Given the description of an element on the screen output the (x, y) to click on. 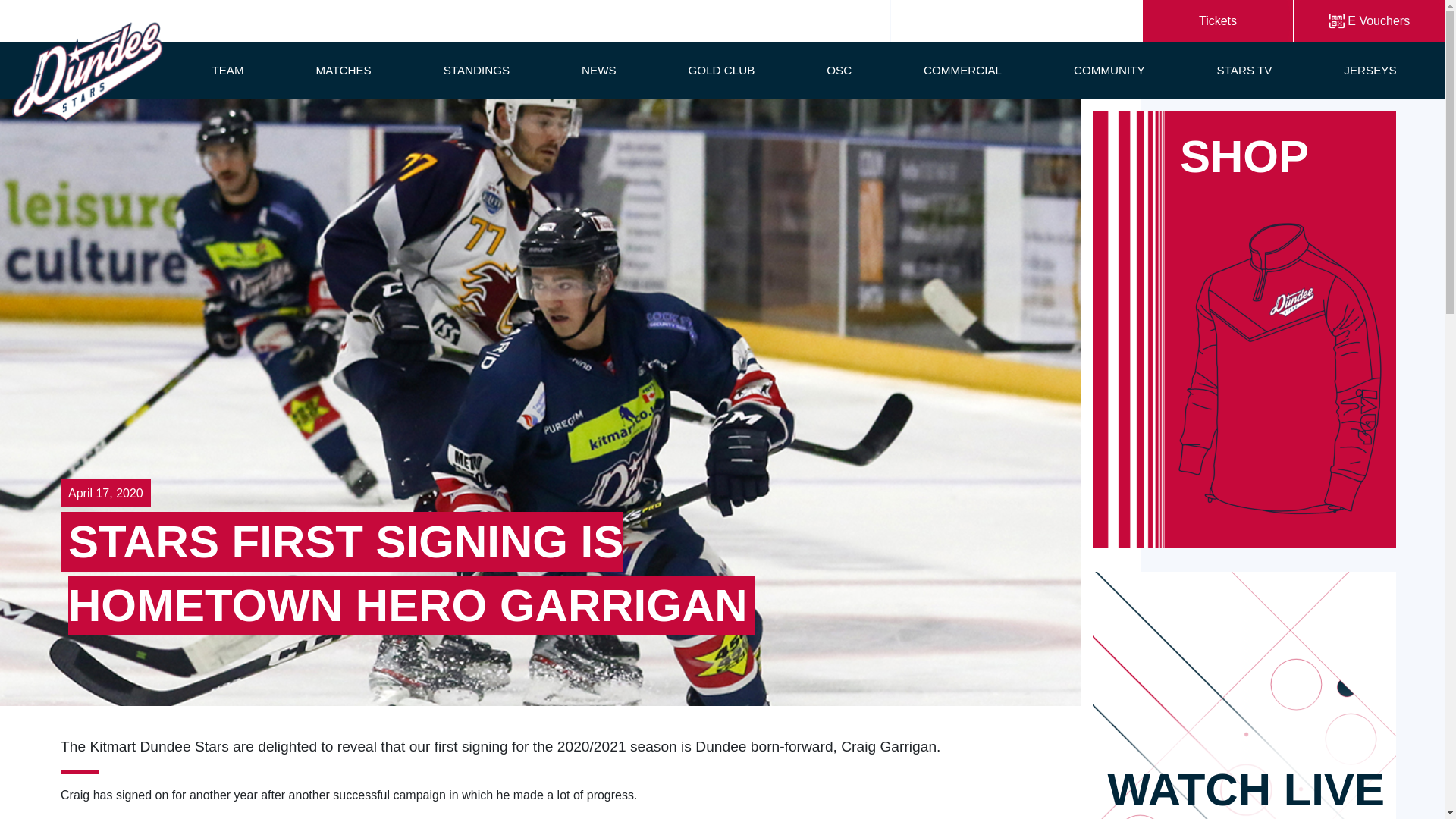
on (1217, 21)
SHOP (1244, 329)
NEWS (599, 70)
OSC (839, 70)
JERSEYS (1370, 70)
WATCH LIVE (1244, 695)
TEAM (226, 70)
STARS TV (1244, 70)
MATCHES (343, 70)
STANDINGS (476, 70)
GOLD CLUB (721, 70)
COMMUNITY (1109, 70)
COMMERCIAL (962, 70)
